Given the description of an element on the screen output the (x, y) to click on. 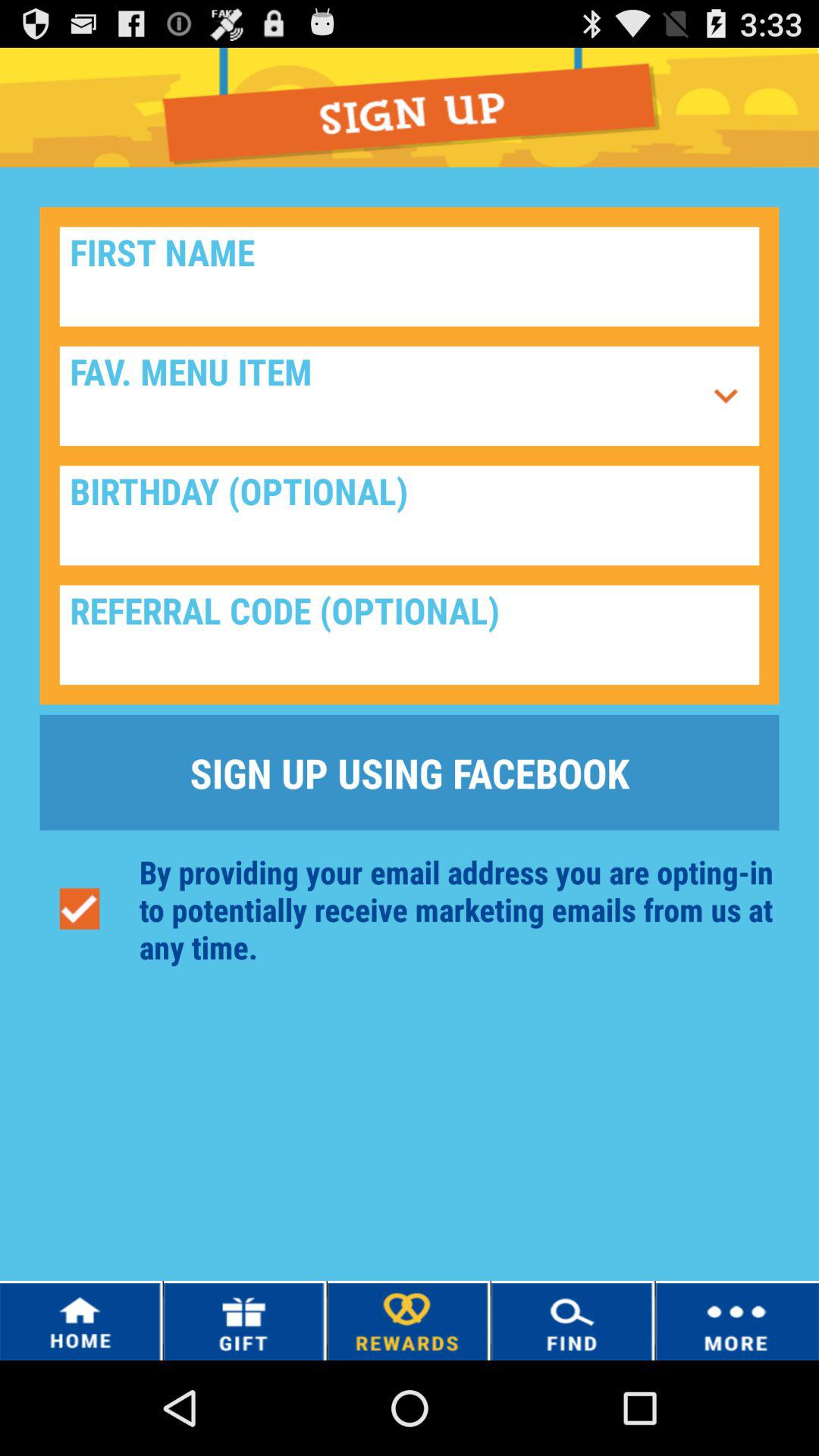
tap button below the sign up using (79, 909)
